Given the description of an element on the screen output the (x, y) to click on. 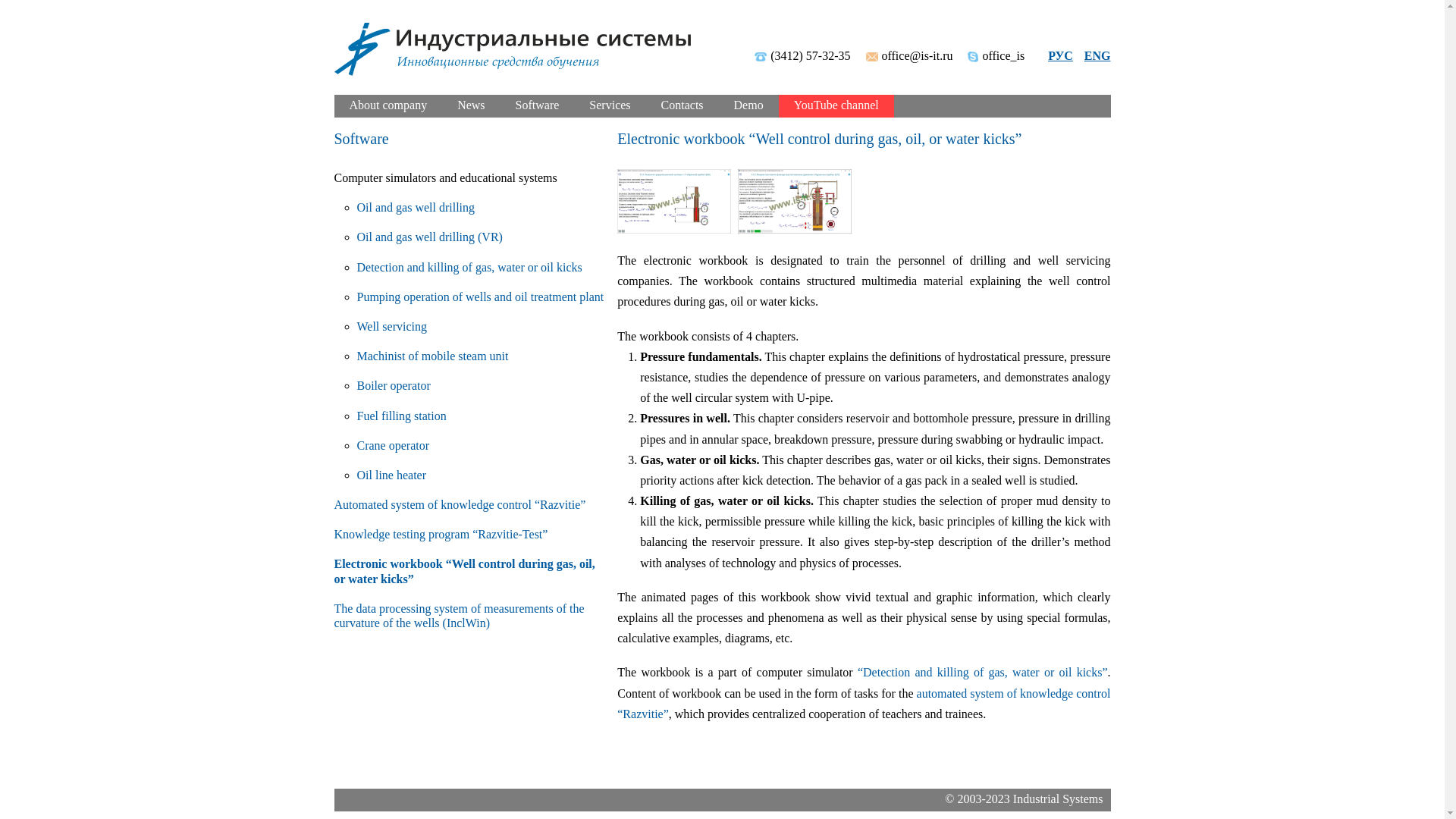
Oil line heater (391, 474)
Detection and killing of gas, water or oil kicks (468, 267)
Industrial Systems (511, 49)
YouTube channel (836, 105)
Switch to English (1097, 55)
Demo (747, 105)
Contacts (682, 105)
Well servicing (391, 326)
Services (609, 105)
About company (387, 105)
ENG (1097, 55)
Electronic workbook page (794, 200)
News (470, 105)
Crane operator (392, 445)
Boiler operator (392, 385)
